Given the description of an element on the screen output the (x, y) to click on. 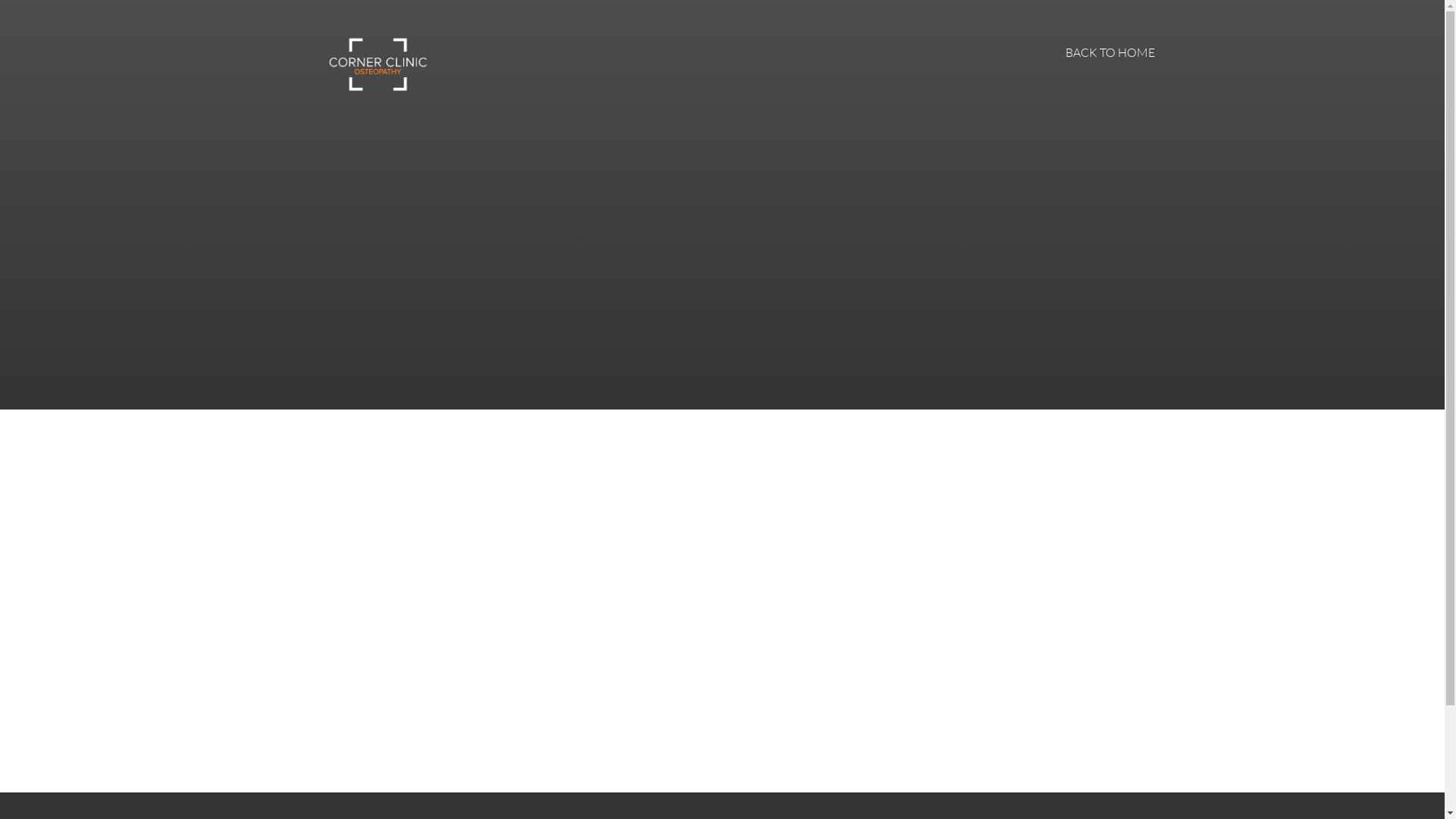
BACK TO HOME Element type: text (1109, 52)
